Given the description of an element on the screen output the (x, y) to click on. 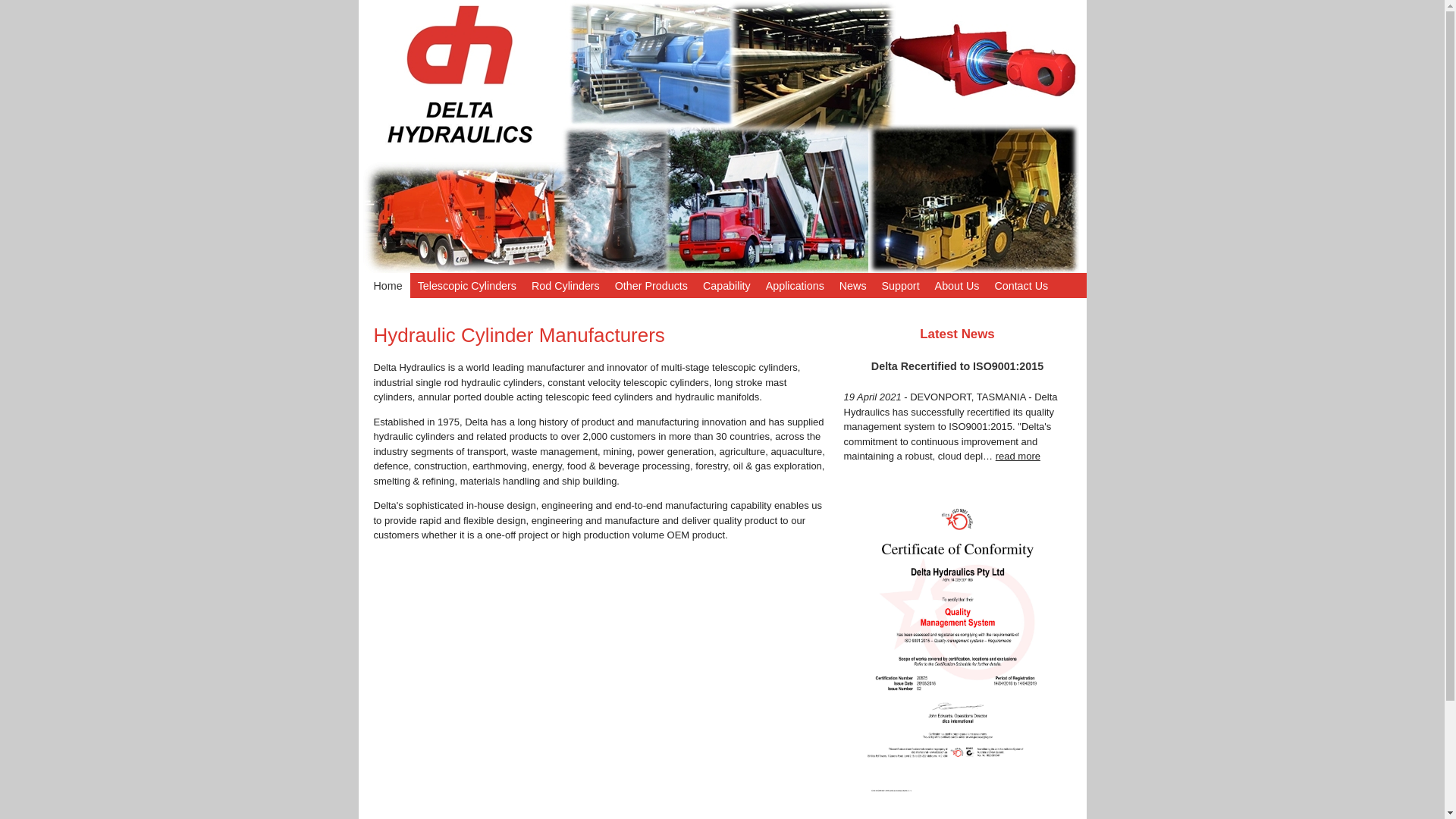
Contact Us Element type: text (1020, 285)
News Element type: text (852, 285)
Applications Element type: text (794, 285)
Telescopic Cylinders Element type: text (467, 285)
Other Products Element type: text (651, 285)
read more Element type: text (1017, 455)
Support Element type: text (900, 285)
Rod Cylinders Element type: text (565, 285)
Capability Element type: text (726, 285)
About Us Element type: text (957, 285)
Home Element type: text (383, 285)
